Given the description of an element on the screen output the (x, y) to click on. 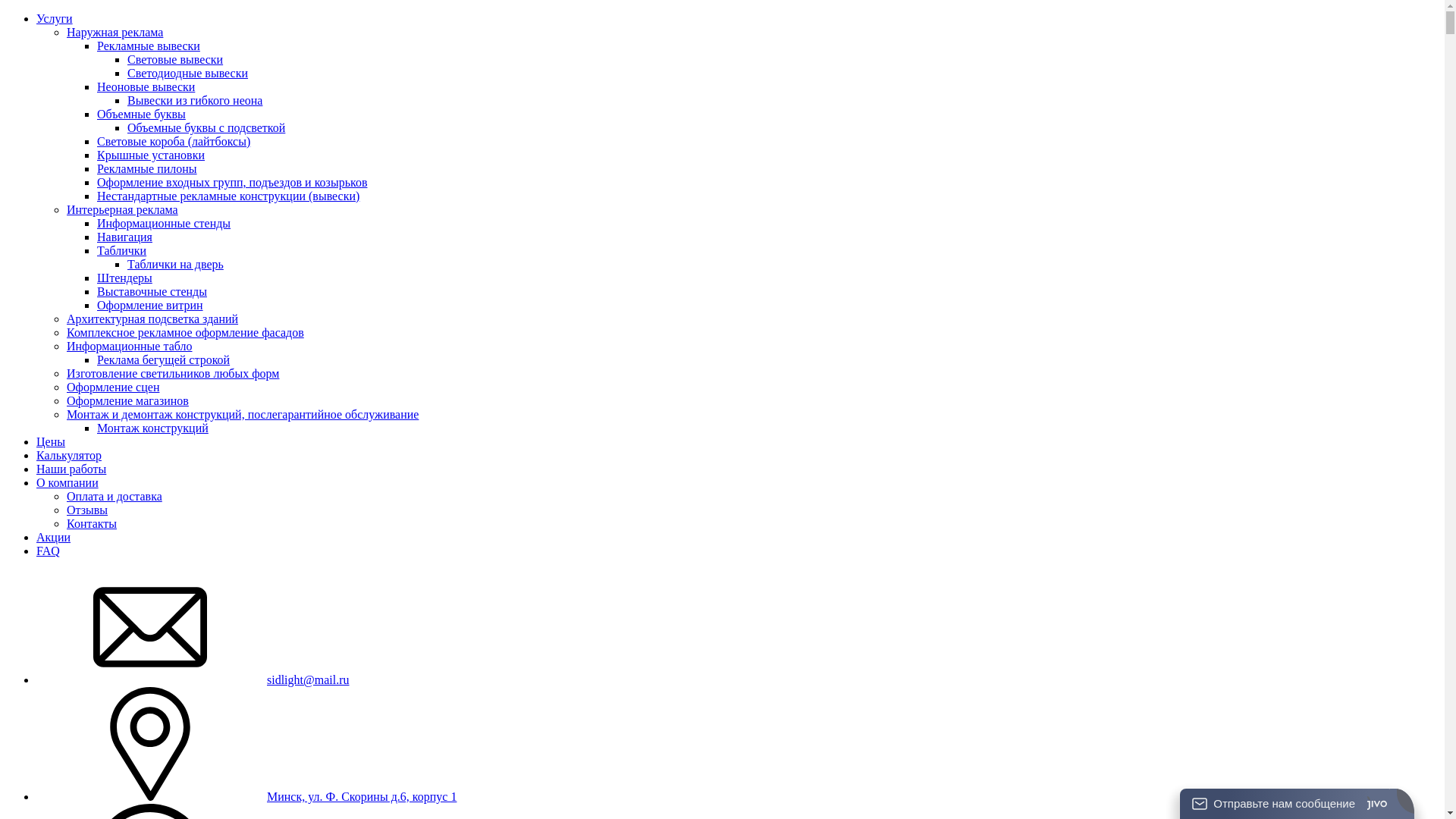
FAQ Element type: text (47, 550)
sidlight@mail.ru Element type: text (307, 679)
